Given the description of an element on the screen output the (x, y) to click on. 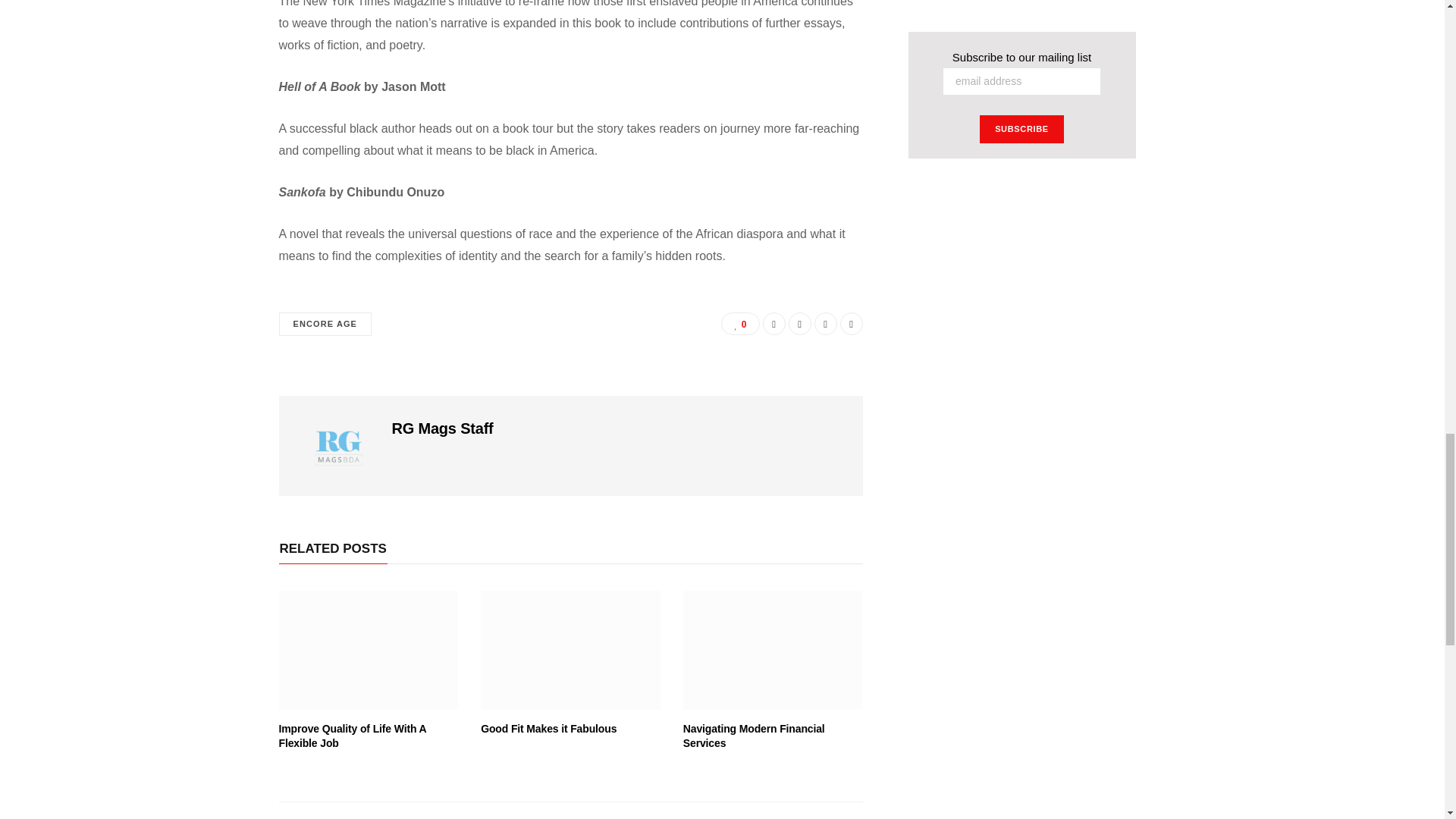
Email (851, 323)
Facebook (774, 323)
Twitter (799, 323)
ENCORE AGE (325, 323)
Subscribe (1021, 129)
Posts by RG Mags Staff (442, 427)
Pinterest (825, 323)
